Given the description of an element on the screen output the (x, y) to click on. 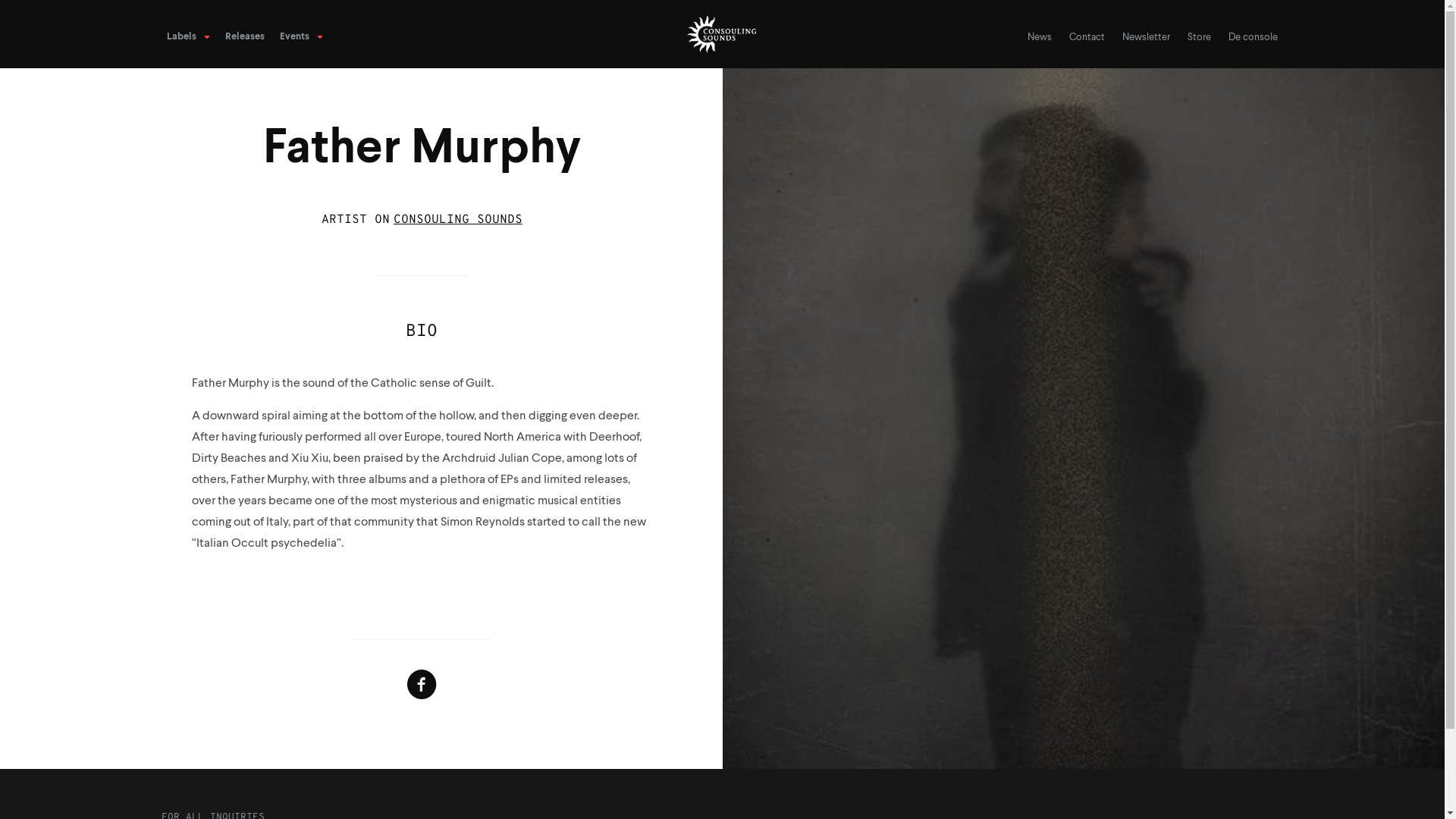
Releases Element type: text (244, 36)
CONSOULING SOUNDS Element type: text (457, 219)
Labels Element type: text (188, 36)
Home Element type: hover (722, 34)
Newsletter Element type: text (1146, 37)
News Element type: text (1039, 37)
De console Element type: text (1252, 37)
Store Element type: text (1199, 37)
Skip to main content Element type: text (0, 67)
Contact Element type: text (1086, 37)
